Given the description of an element on the screen output the (x, y) to click on. 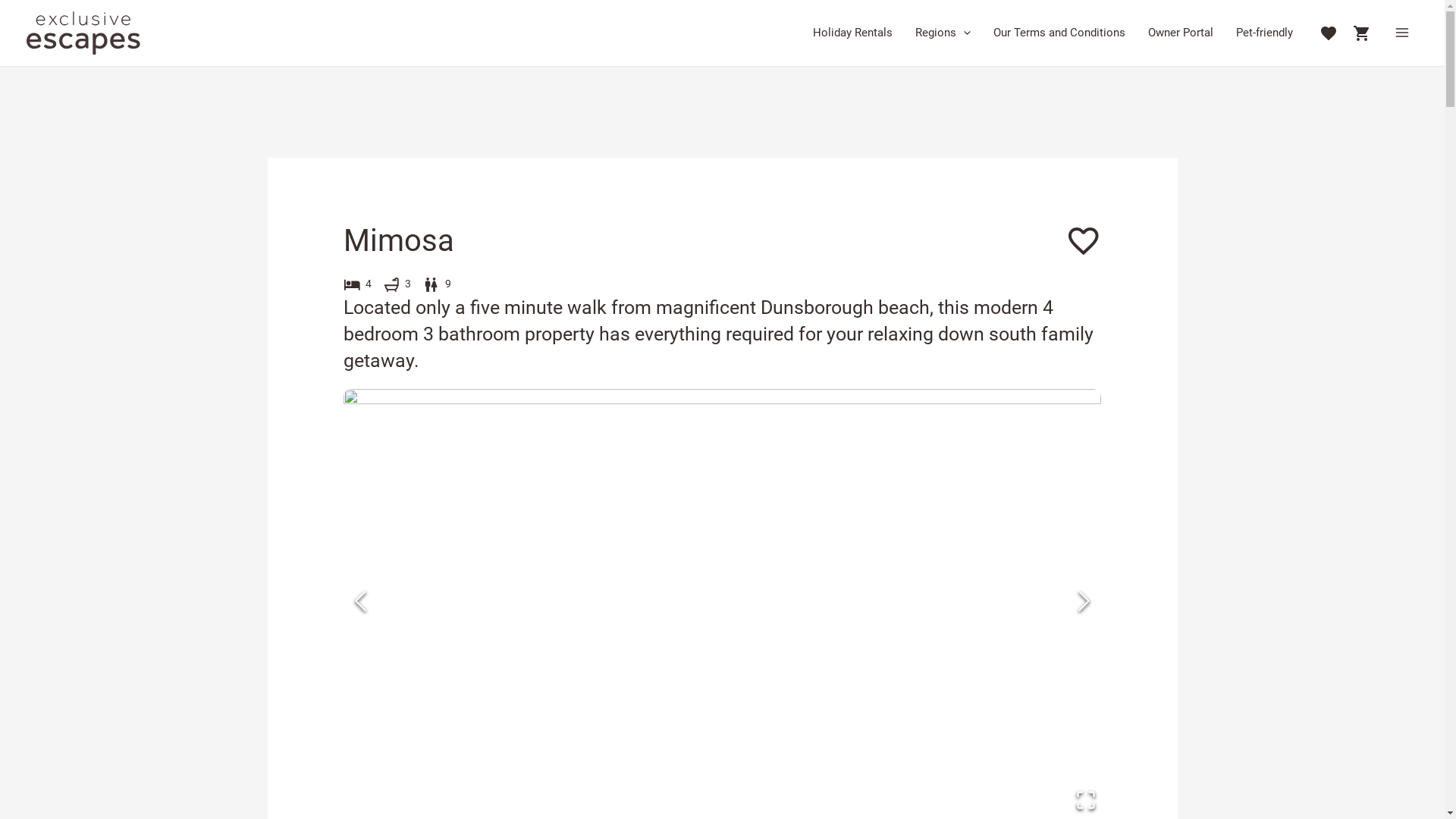
Owner Portal Element type: text (1179, 32)
Pet-friendly Element type: text (1263, 32)
Main Menu Element type: text (1402, 32)
Holiday Rentals Element type: text (851, 32)
Regions Element type: text (942, 32)
Our Terms and Conditions Element type: text (1058, 32)
